Given the description of an element on the screen output the (x, y) to click on. 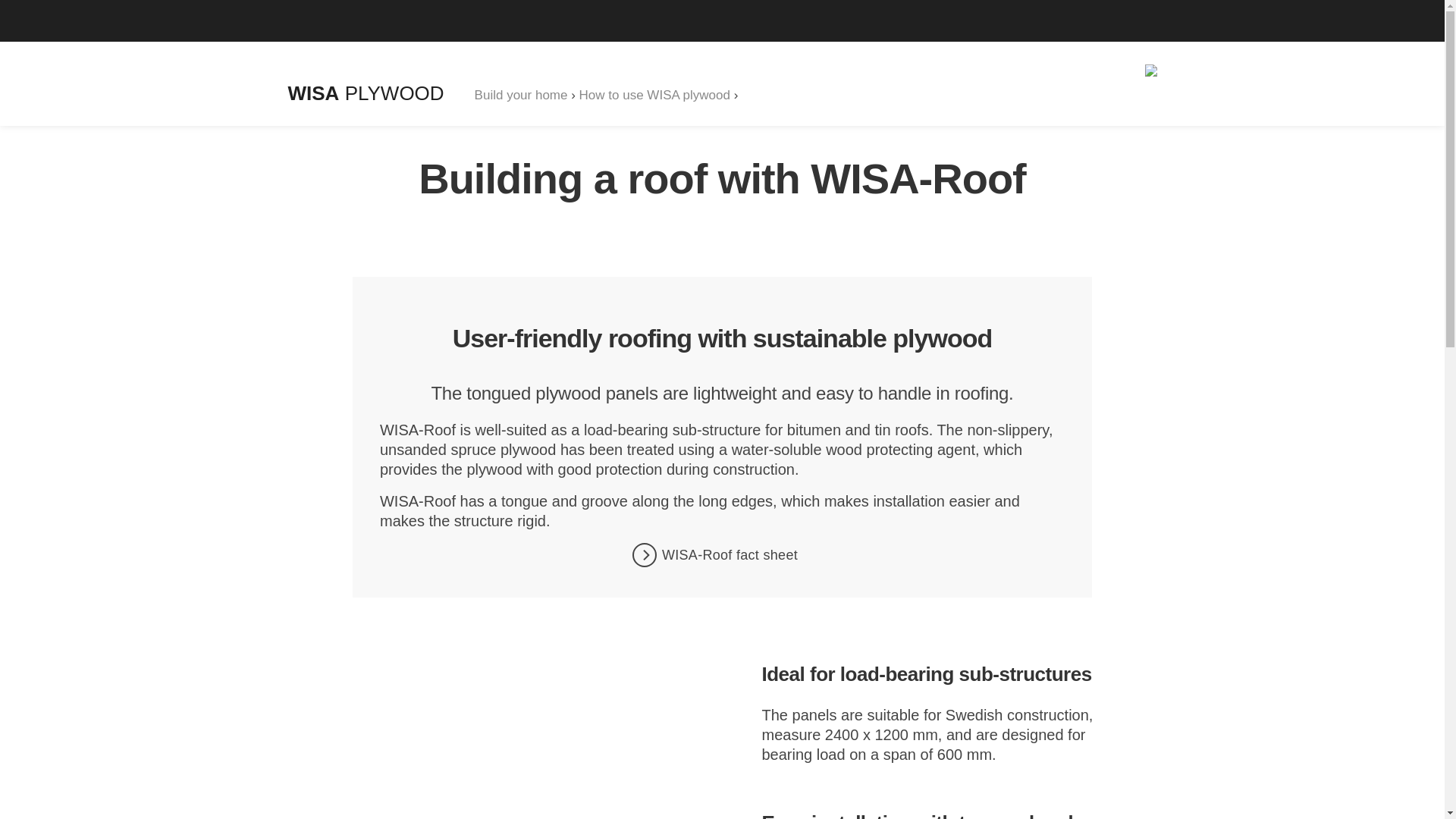
WISA PLYWOOD (366, 92)
How to use WISA plywood (654, 94)
Build your home (520, 94)
WISA-Roof fact sheet (721, 554)
WISA-Roof fact sheet (721, 554)
